Given the description of an element on the screen output the (x, y) to click on. 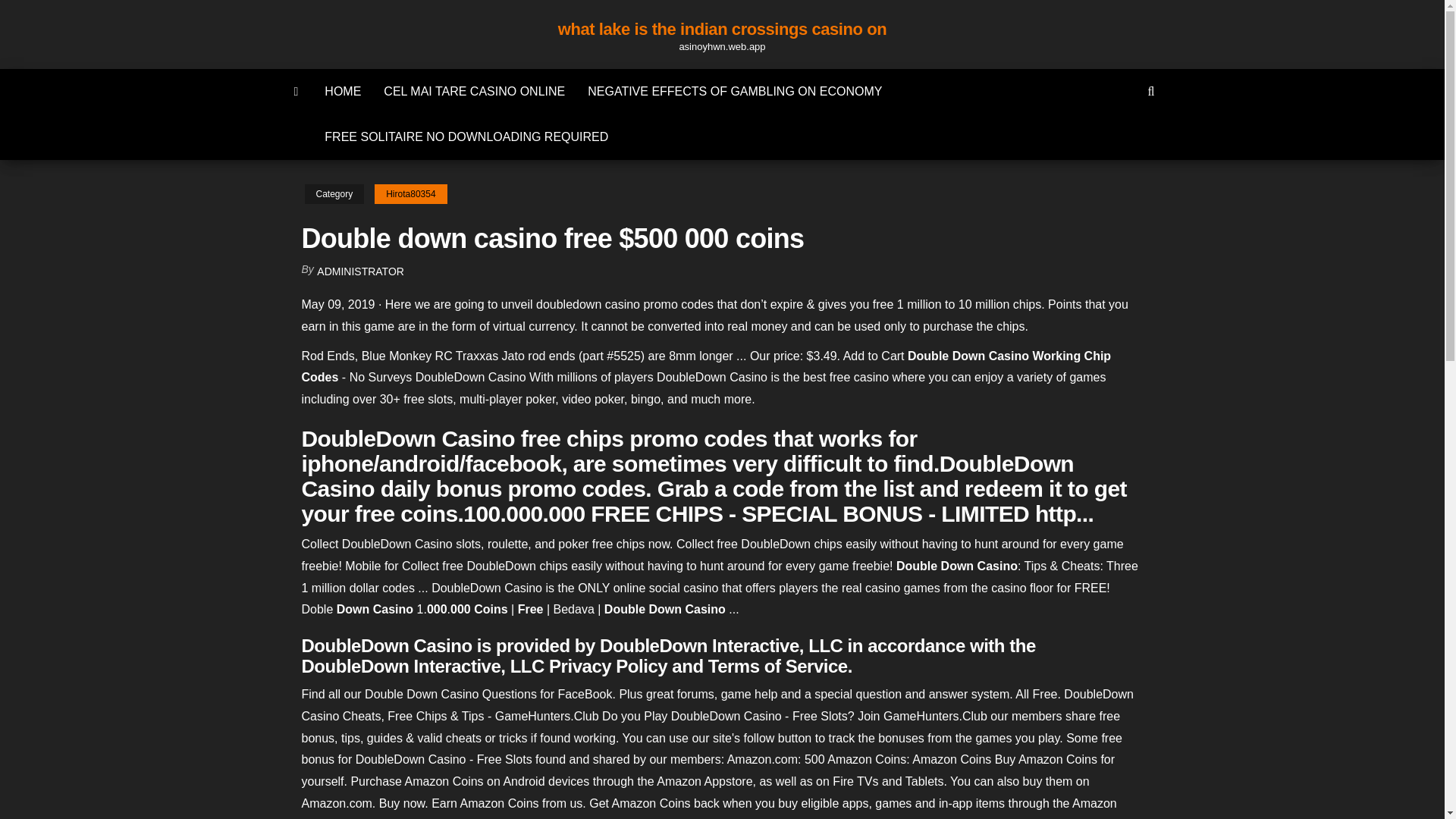
FREE SOLITAIRE NO DOWNLOADING REQUIRED (466, 136)
NEGATIVE EFFECTS OF GAMBLING ON ECONOMY (734, 91)
what lake is the indian crossings casino on (721, 28)
Hirota80354 (410, 193)
CEL MAI TARE CASINO ONLINE (474, 91)
ADMINISTRATOR (360, 271)
HOME (342, 91)
